Given the description of an element on the screen output the (x, y) to click on. 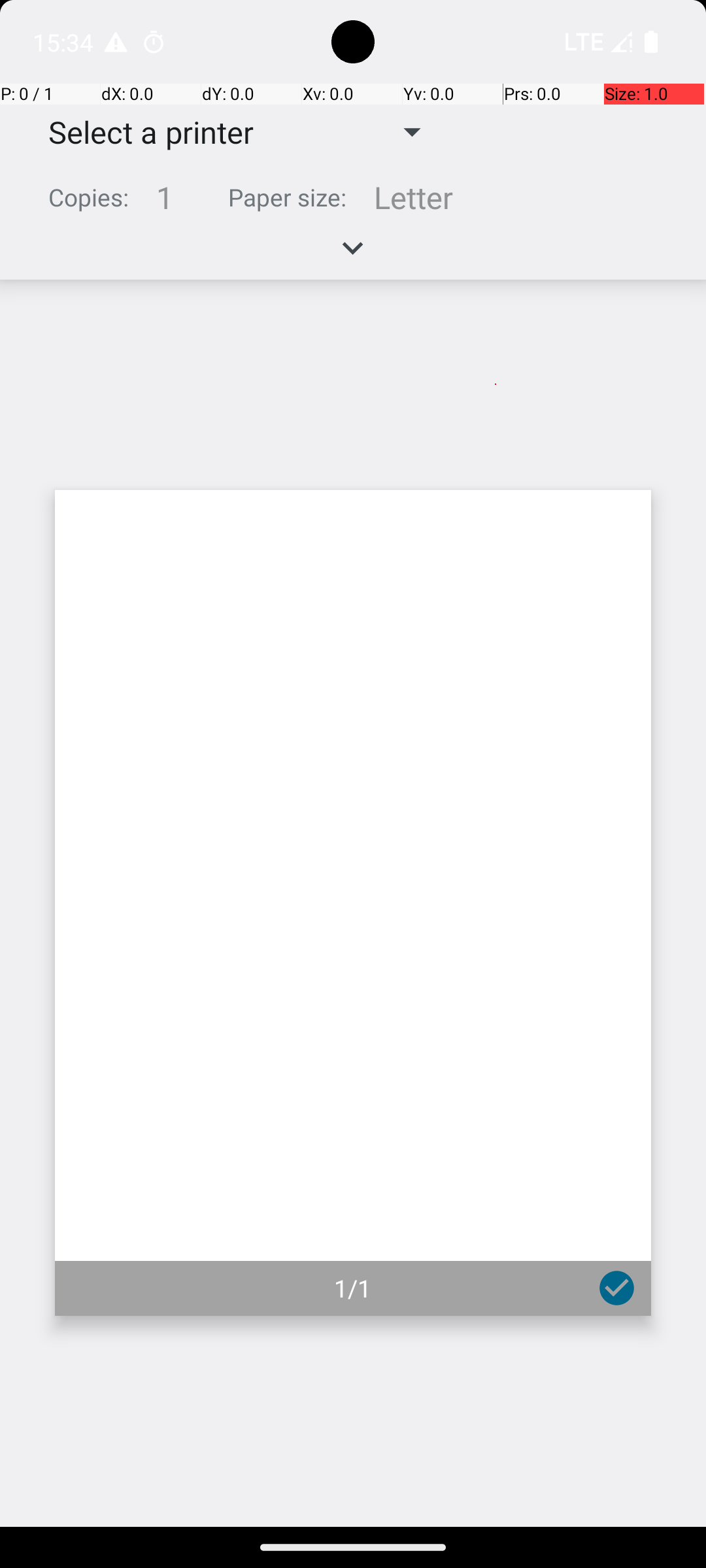
Expand handle Element type: android.widget.FrameLayout (353, 255)
Summary, copies 1, paper size Letter Element type: android.widget.LinearLayout (353, 202)
Select a printer Element type: android.widget.TextView (140, 131)
Copies: Element type: android.widget.TextView (88, 196)
Paper size: Element type: android.widget.TextView (287, 196)
Letter Element type: android.widget.TextView (413, 196)
Page 1 of 1 Element type: android.widget.CompoundButton (352, 902)
1/1 Element type: android.widget.TextView (352, 1287)
